Given the description of an element on the screen output the (x, y) to click on. 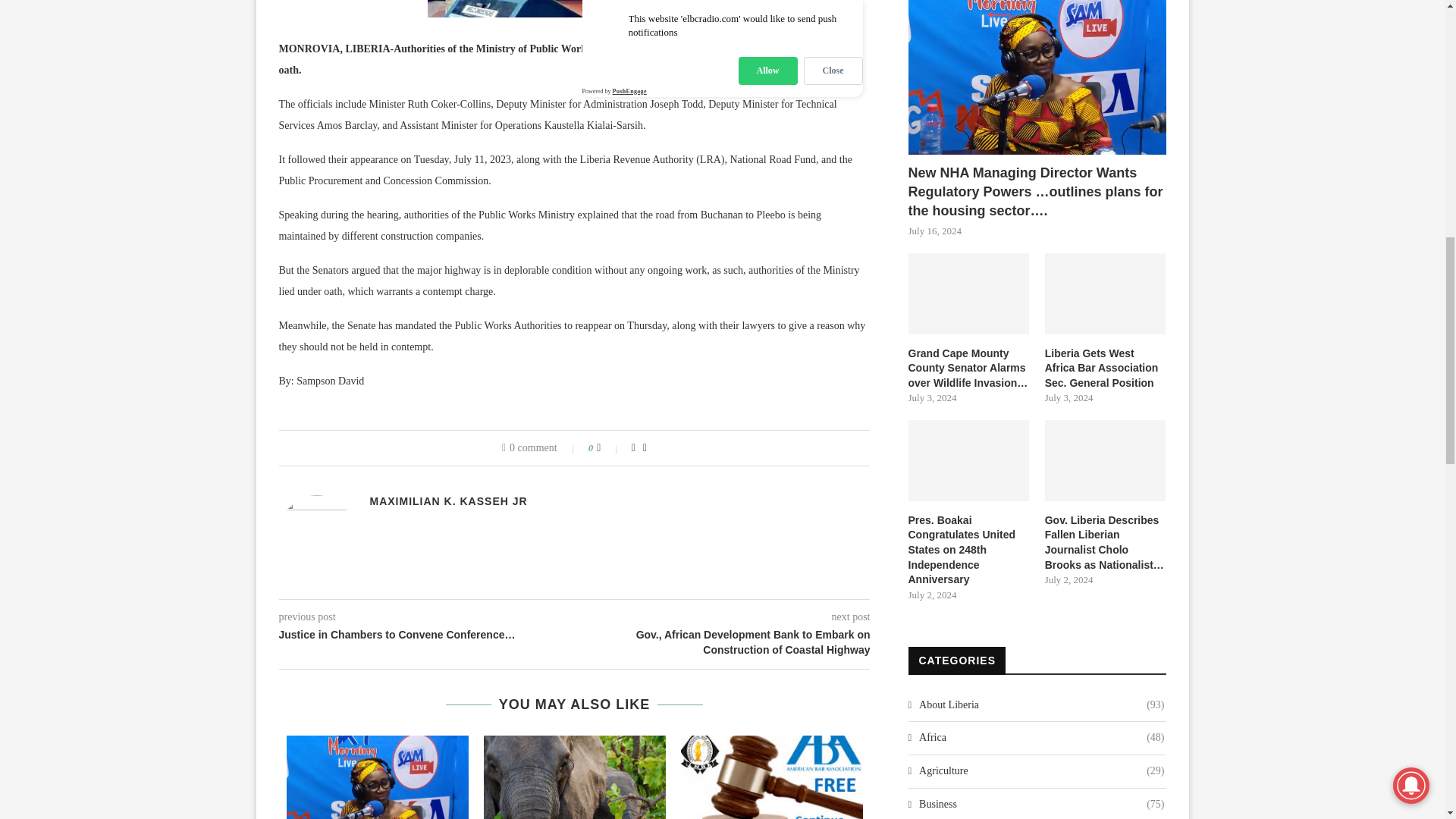
rcc (574, 9)
Author Maximilian K. Kasseh jr (448, 500)
Like (608, 448)
